Given the description of an element on the screen output the (x, y) to click on. 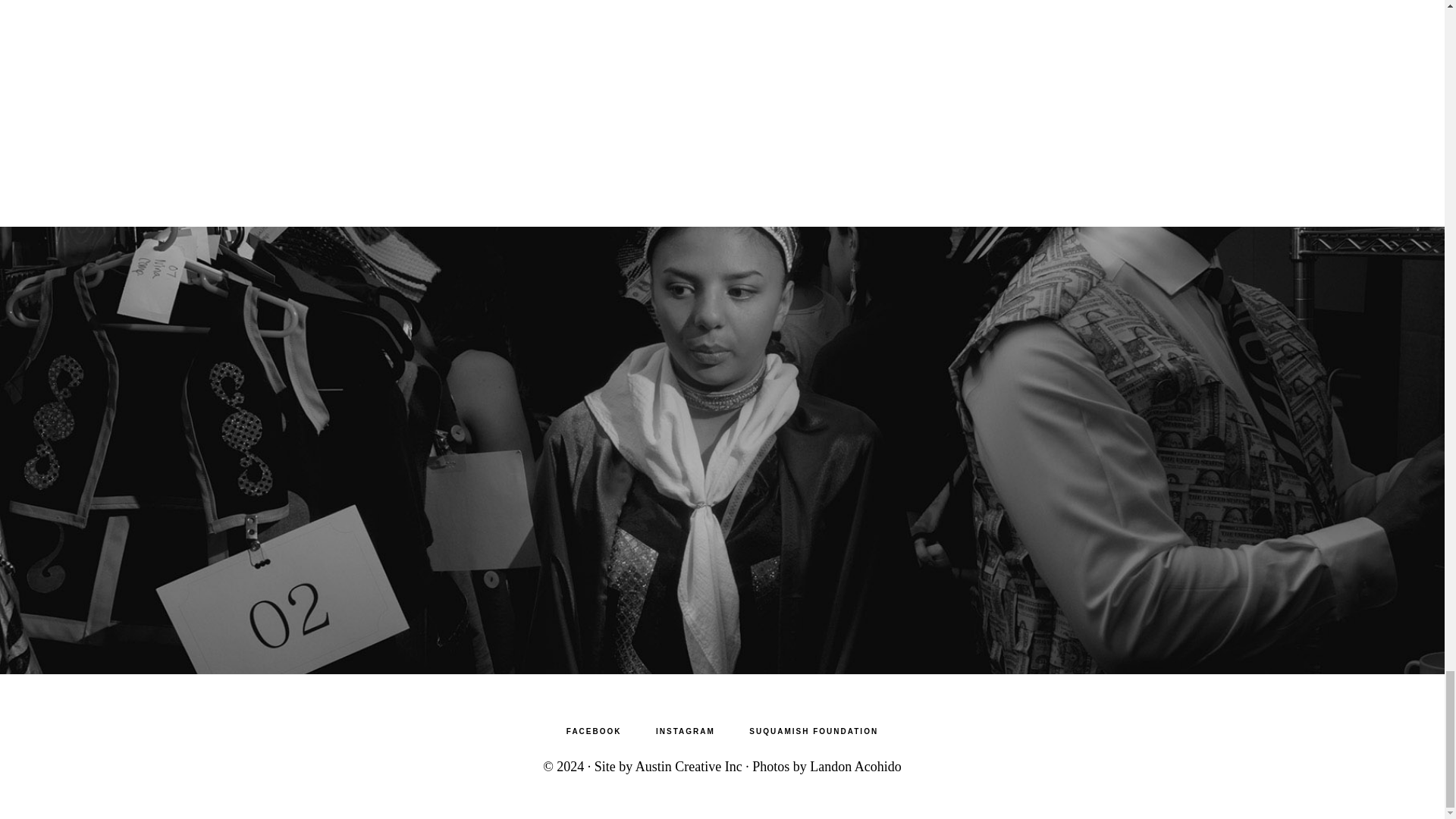
Austin Creative Inc (689, 766)
FACEBOOK (594, 731)
SUQUAMISH FOUNDATION (813, 731)
INSTAGRAM (685, 731)
Landon Acohido (855, 766)
